Given the description of an element on the screen output the (x, y) to click on. 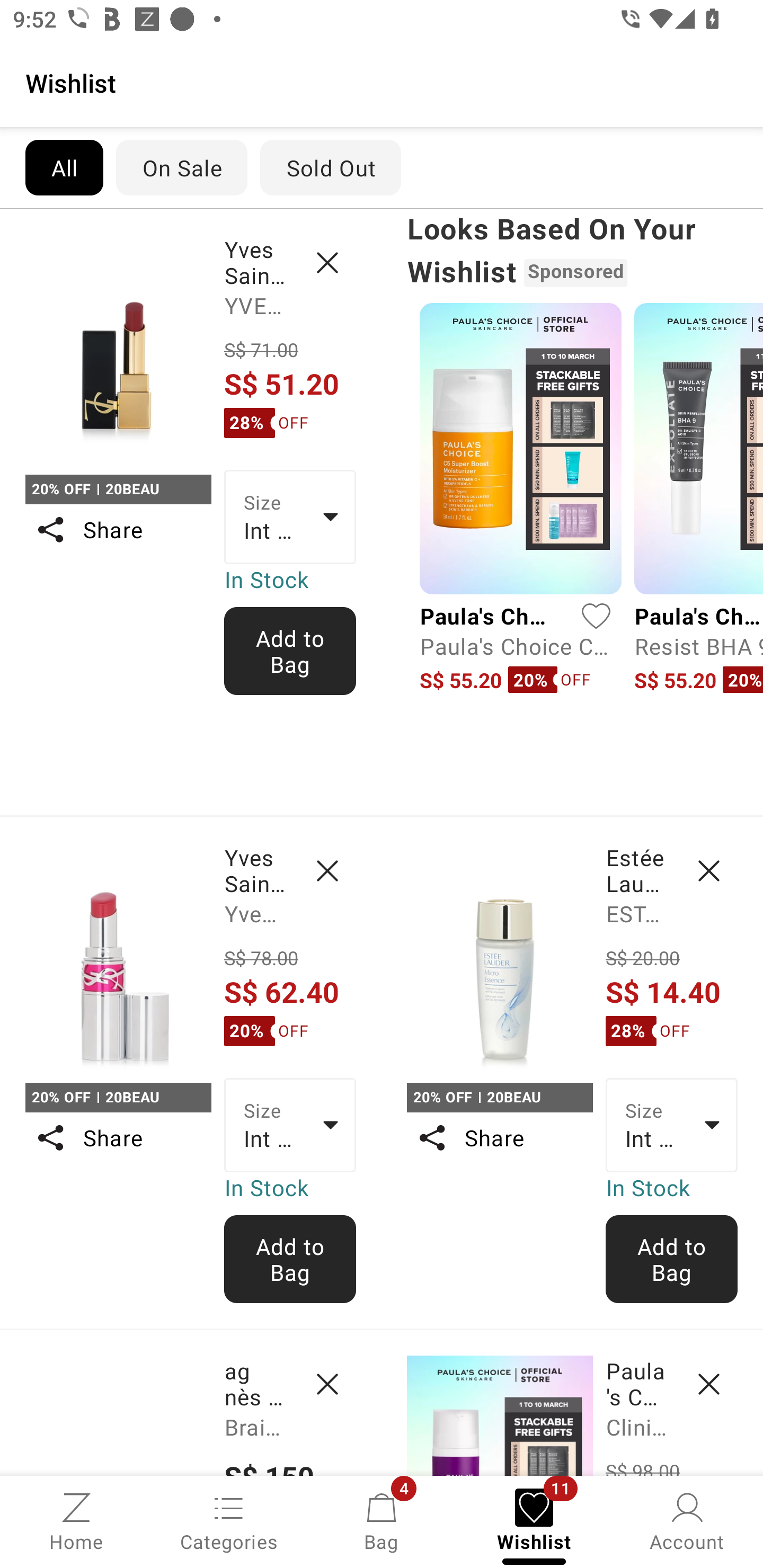
Wishlist (381, 82)
All (64, 167)
On Sale (181, 167)
Sold Out (330, 167)
Size Int One Size (290, 517)
Share (118, 529)
Add to Bag (290, 650)
Size Int One Size (290, 1125)
Size Int One Size (671, 1125)
Share (118, 1137)
Share (499, 1137)
Add to Bag (290, 1259)
Add to Bag (671, 1259)
Home (76, 1519)
Categories (228, 1519)
Bag, 4 new notifications Bag (381, 1519)
Account (686, 1519)
